Given the description of an element on the screen output the (x, y) to click on. 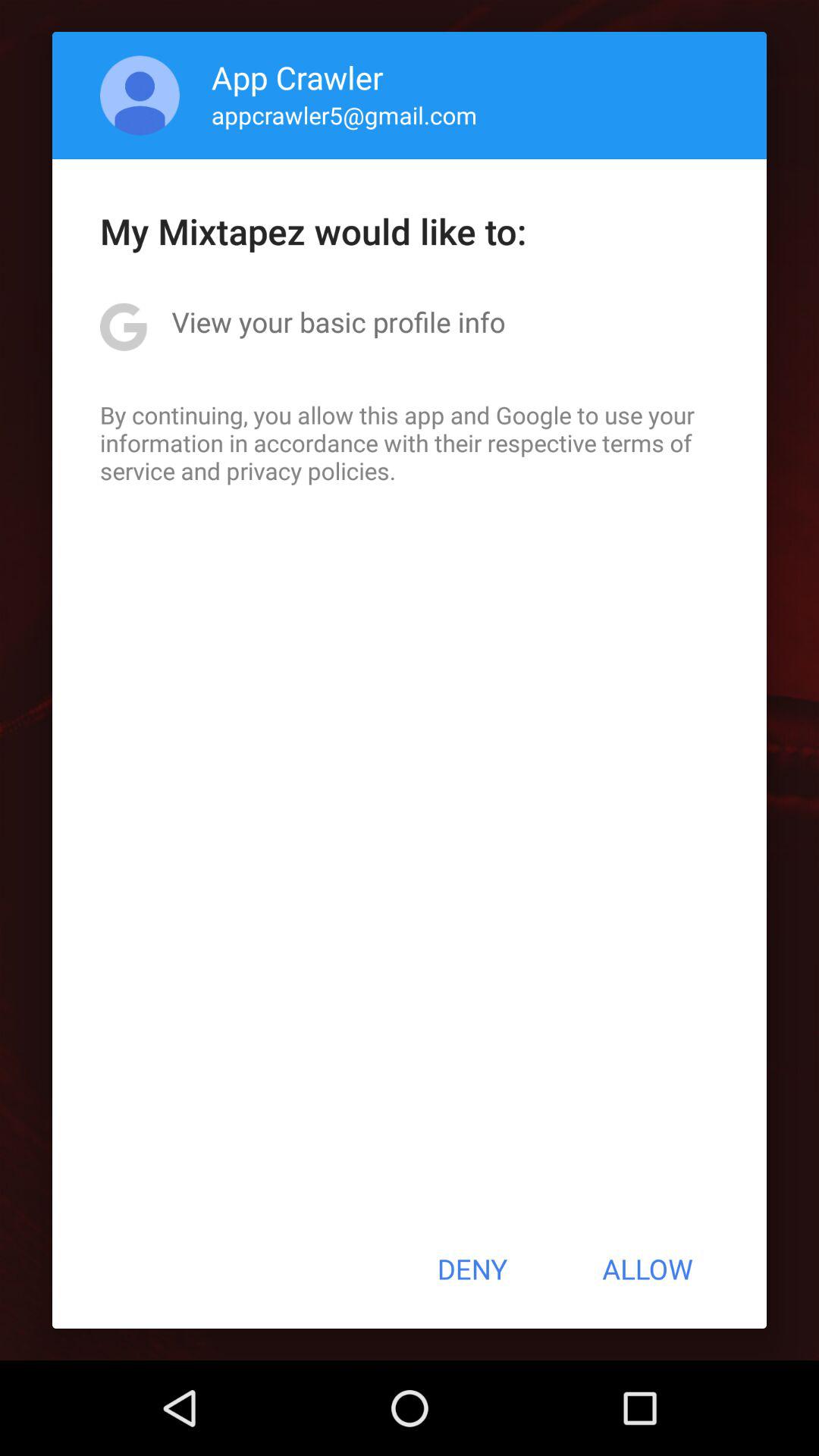
select deny item (471, 1268)
